Given the description of an element on the screen output the (x, y) to click on. 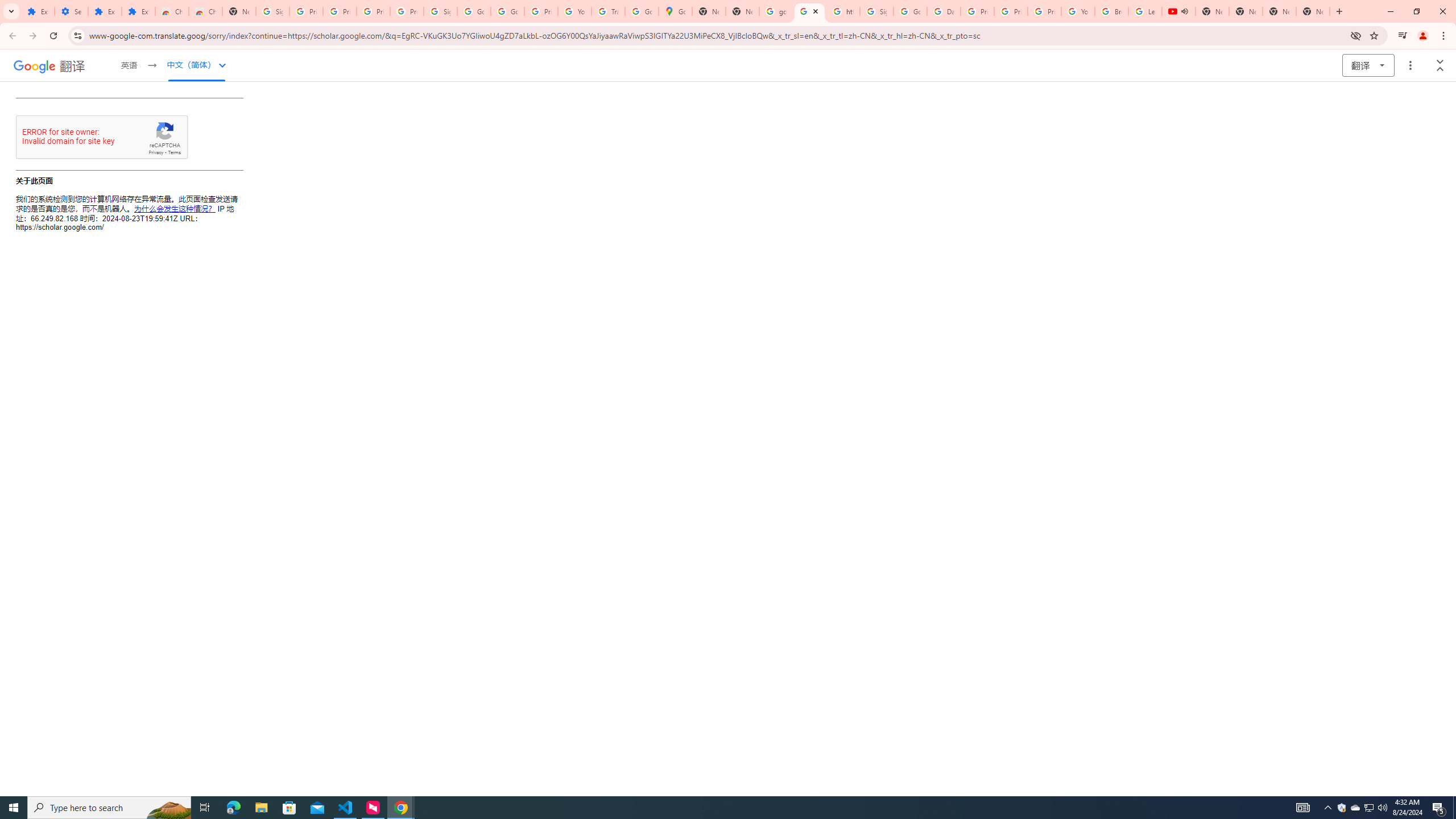
New Tab (1313, 11)
Extensions (104, 11)
Extensions (138, 11)
New Tab (238, 11)
YouTube (1077, 11)
